Given the description of an element on the screen output the (x, y) to click on. 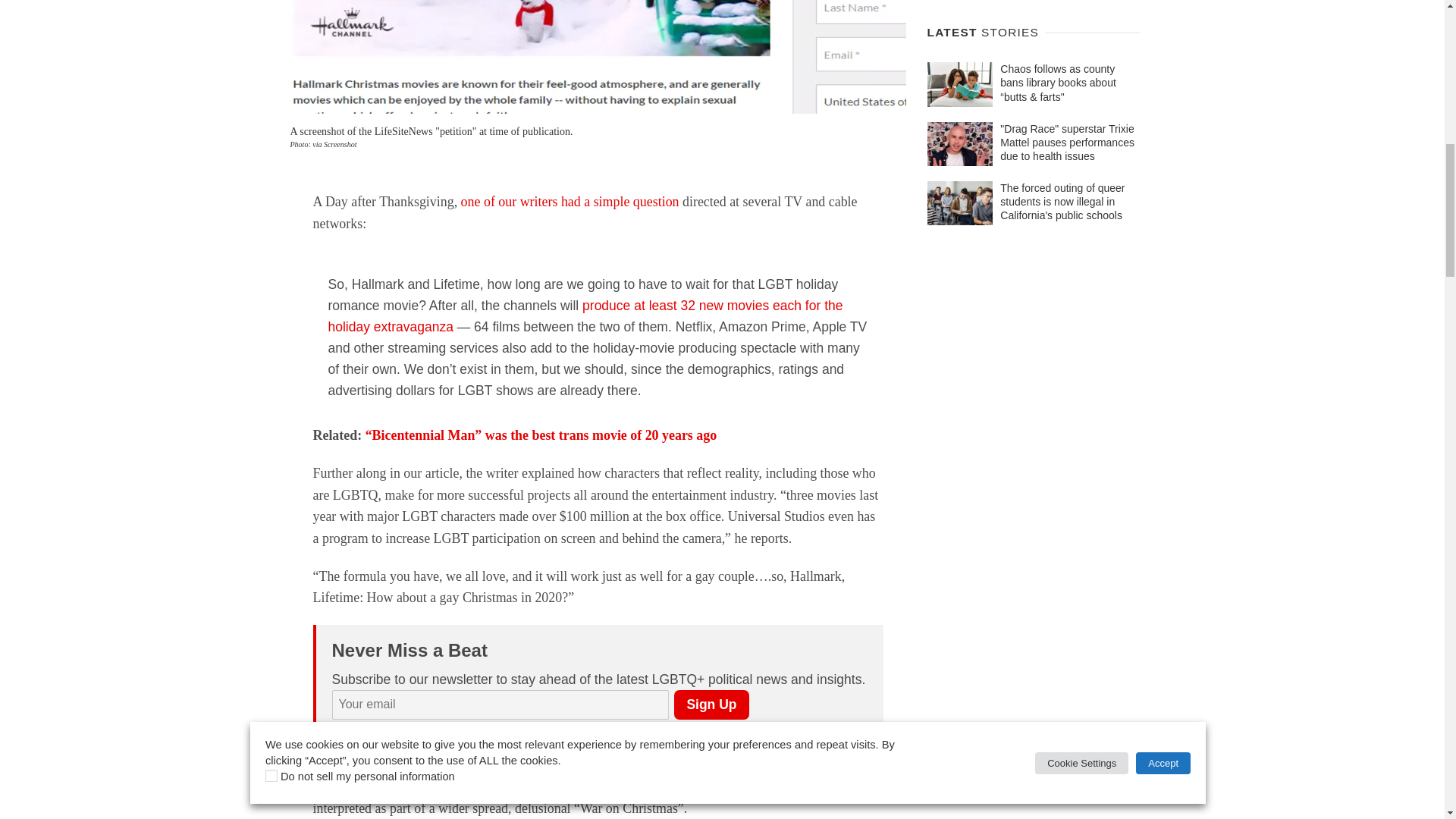
1920884 (389, 732)
Sign Up (711, 704)
one of our writers had a simple question (570, 201)
LifeSiteNews Petition (597, 56)
1920883 (457, 732)
1920885 (336, 732)
